Given the description of an element on the screen output the (x, y) to click on. 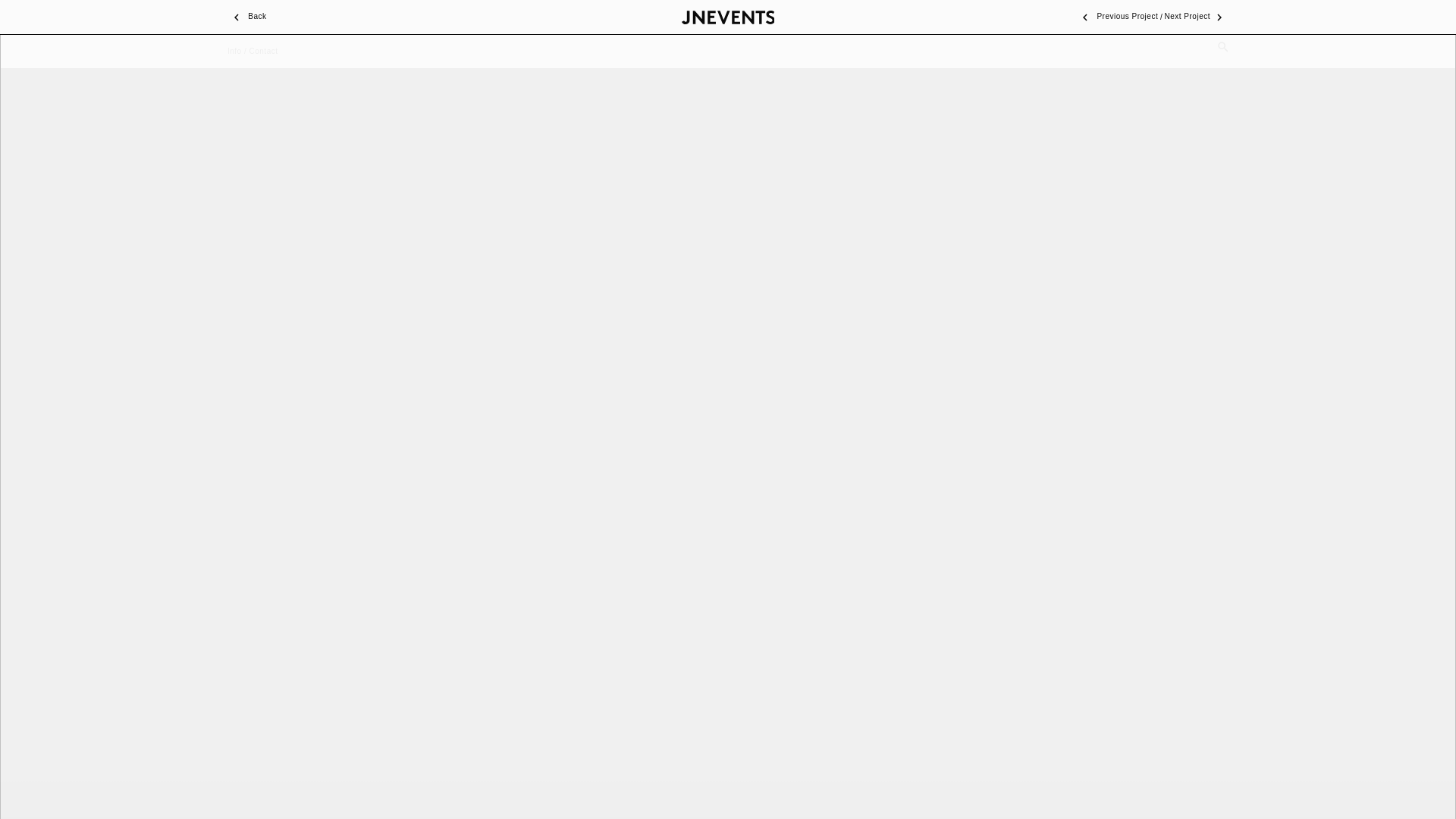
PRODUCTION (421, 16)
EVENTS (631, 16)
Next Project (1196, 16)
LIFESTYLE (837, 16)
CASTING (1043, 16)
The Group (246, 16)
Previous Project (1116, 16)
Back (246, 16)
